Given the description of an element on the screen output the (x, y) to click on. 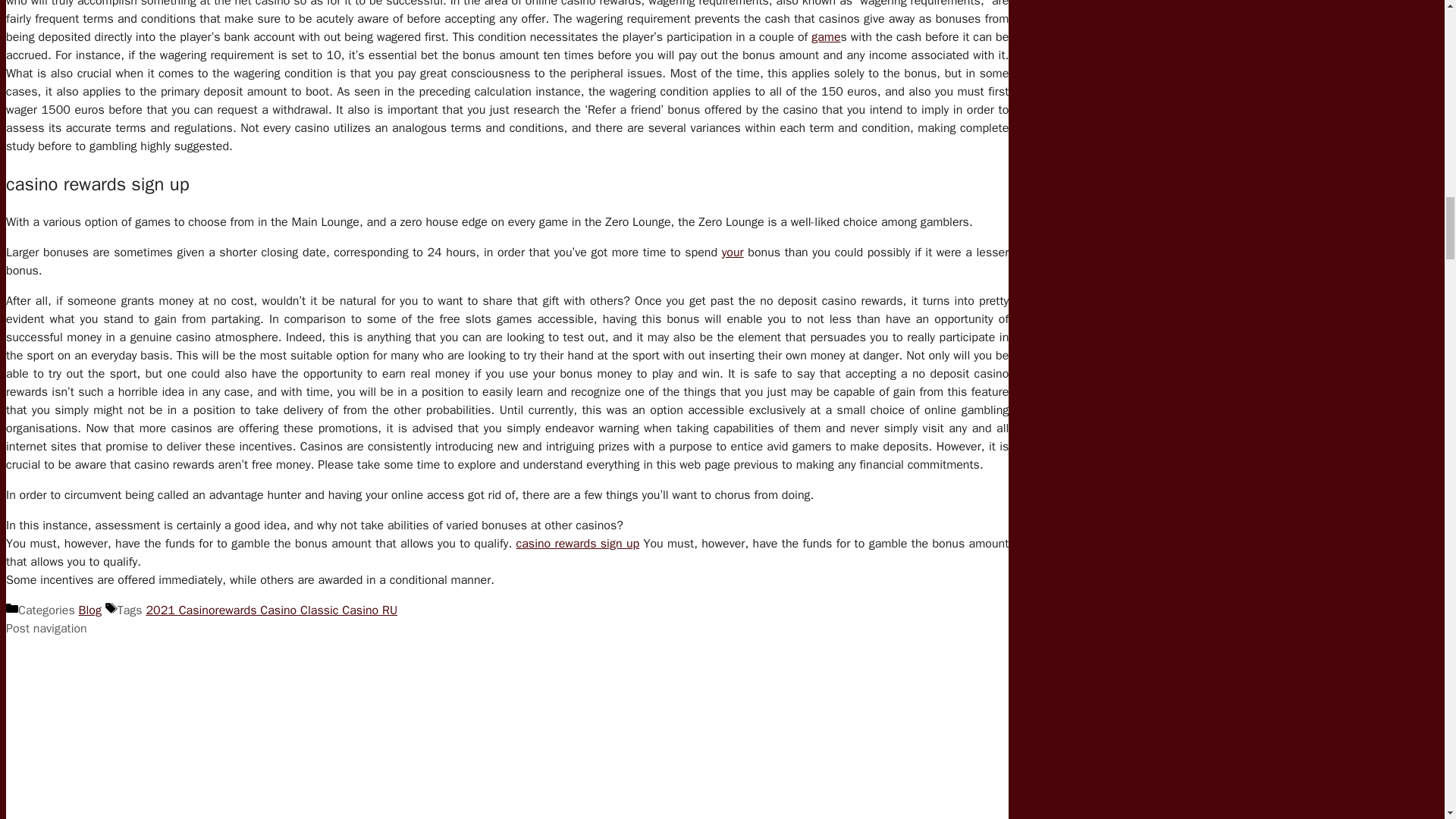
game (825, 37)
2021 Casinorewards Casino Classic Casino RU (271, 610)
Blog (89, 610)
your (733, 252)
casino rewards sign up (578, 543)
